Given the description of an element on the screen output the (x, y) to click on. 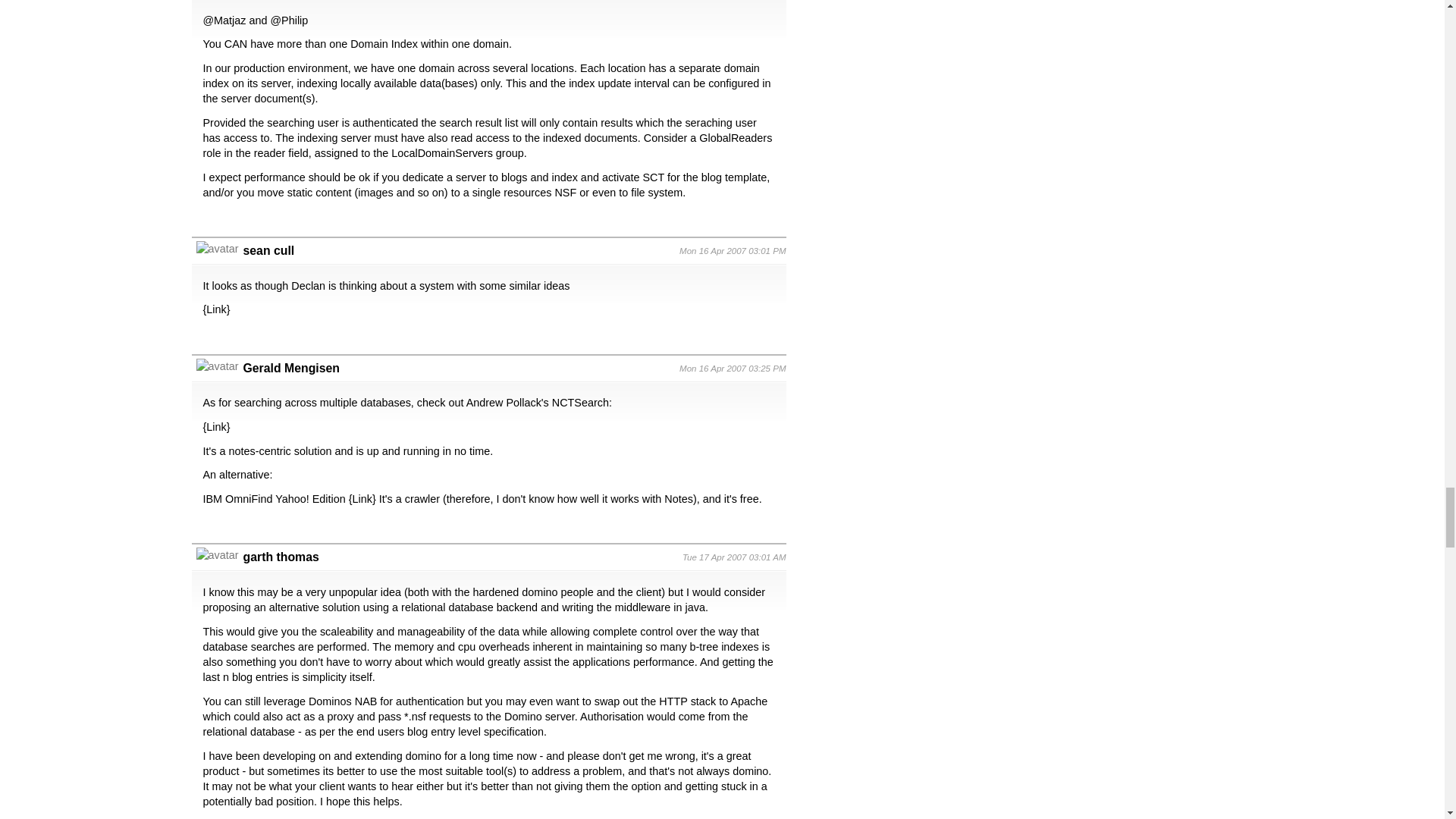
Link (215, 426)
Click to Email (291, 367)
Gerald Mengisen (291, 367)
garth thomas (280, 556)
Link (215, 309)
Link (362, 499)
sean cull (268, 250)
